Given the description of an element on the screen output the (x, y) to click on. 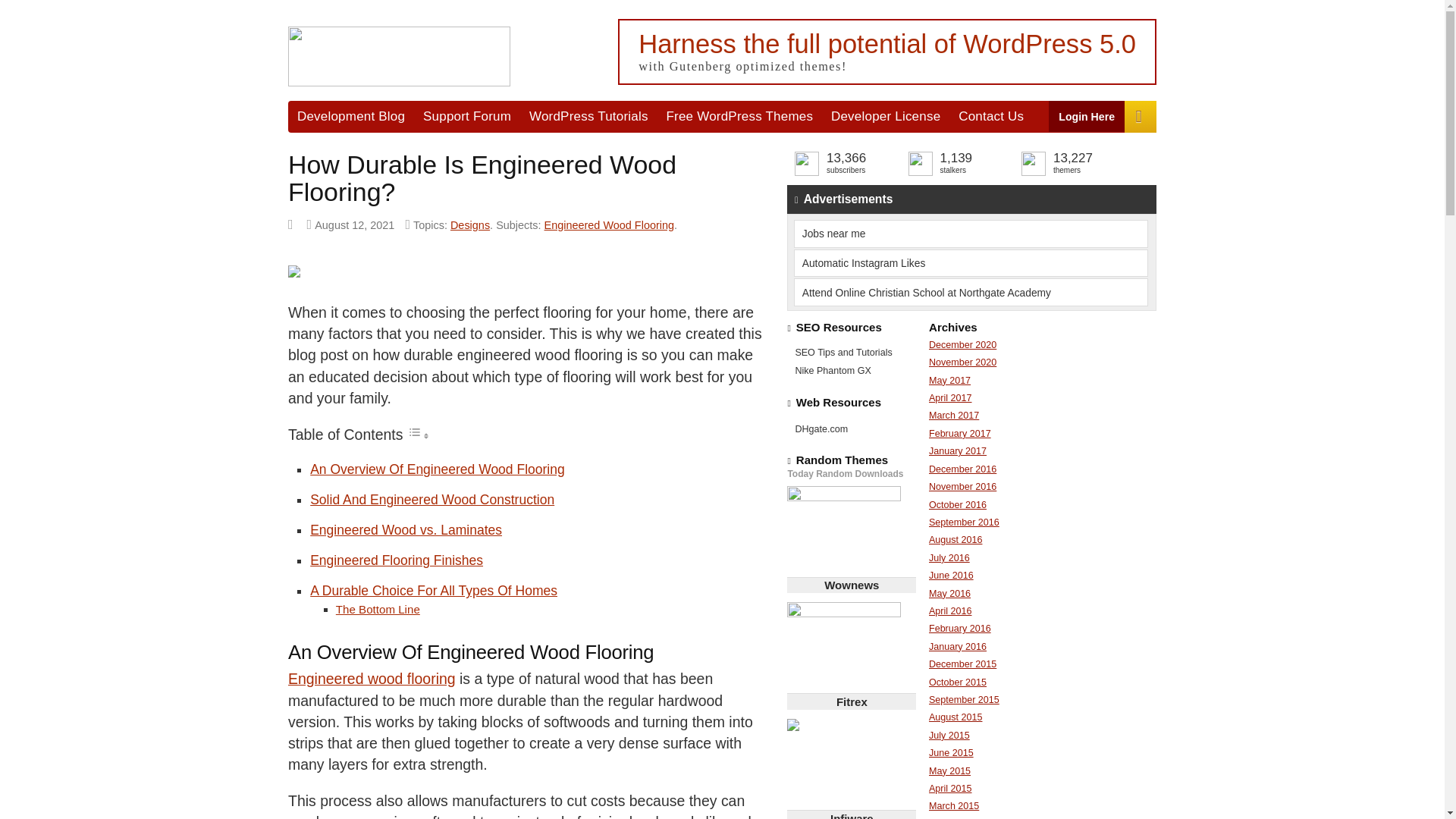
An Overview Of Engineered Wood Flooring (437, 468)
Development Blog (350, 115)
Free WordPress Themes (740, 115)
Contact Us (990, 115)
Engineered Wood vs. Laminates (406, 529)
Solid And Engineered Wood Construction (432, 499)
Login Here (1086, 115)
A Durable Choice For All Types Of Homes (433, 590)
Engineered Flooring Finishes (396, 560)
Engineered Flooring Finishes (396, 560)
